Given the description of an element on the screen output the (x, y) to click on. 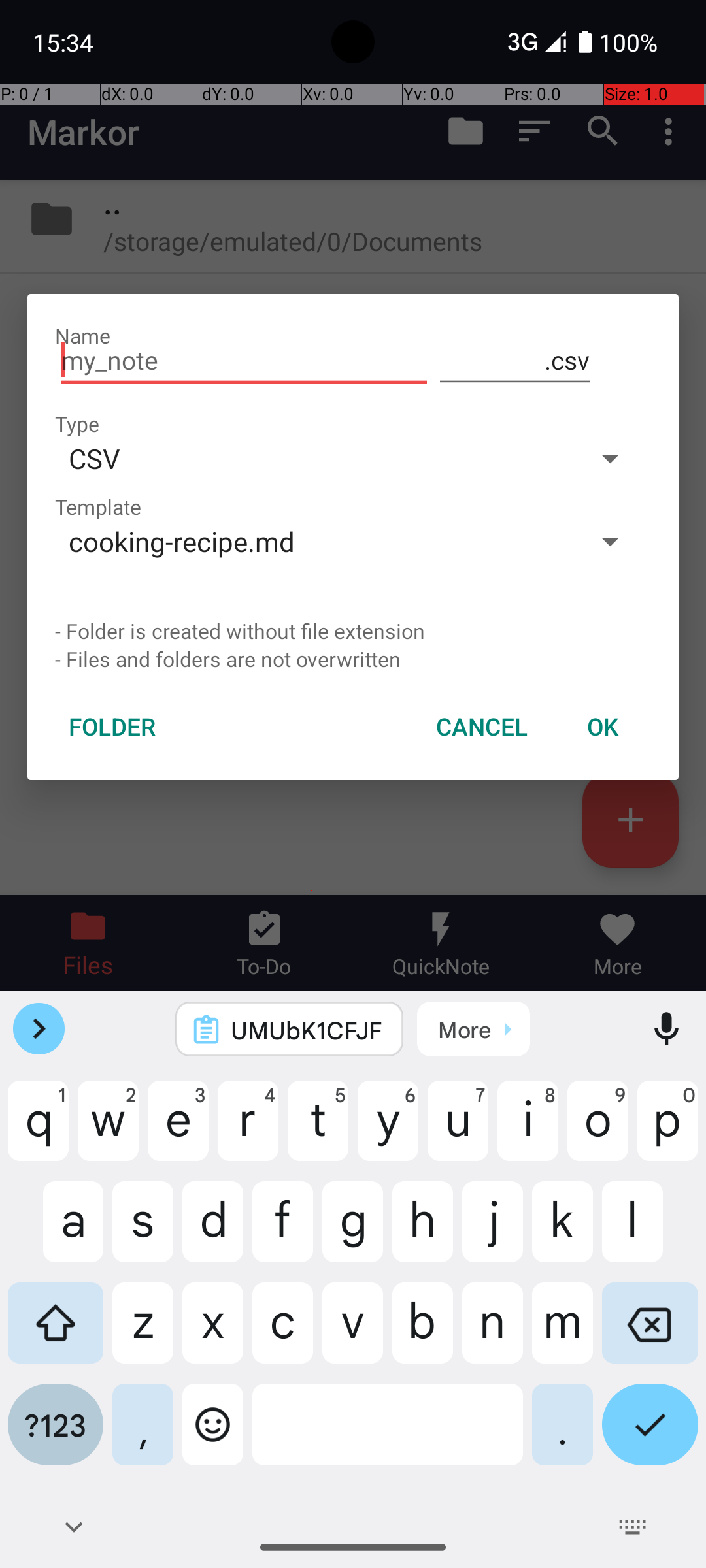
my_note Element type: android.widget.EditText (243, 360)
.csv Element type: android.widget.EditText (514, 360)
CSV Element type: android.widget.TextView (311, 457)
cooking-recipe.md Element type: android.widget.TextView (311, 540)
UMUbK1CFJF Element type: android.widget.TextView (306, 1029)
